Given the description of an element on the screen output the (x, y) to click on. 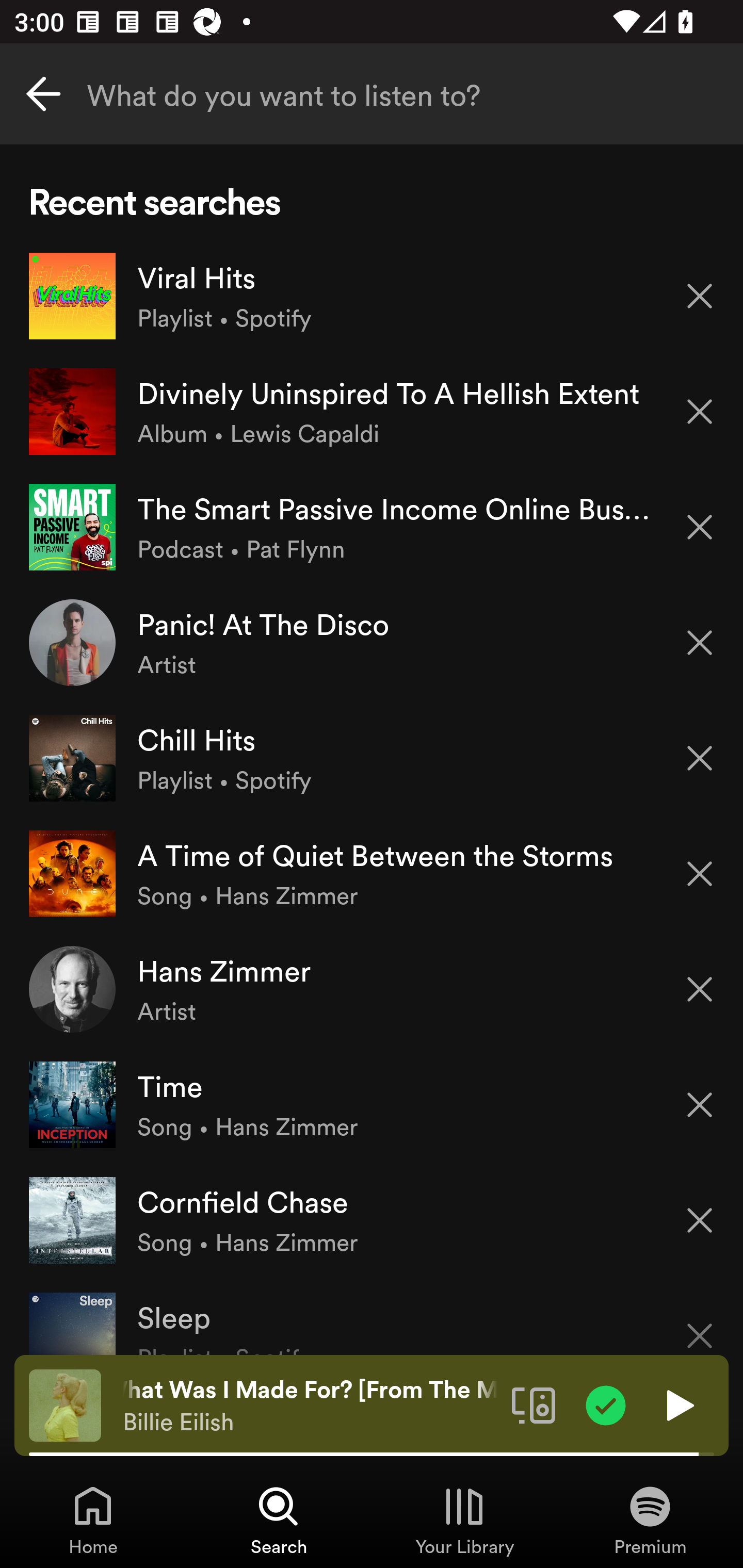
What do you want to listen to? (371, 93)
Cancel (43, 93)
Viral Hits Playlist • Spotify Remove (371, 296)
Remove (699, 295)
Remove (699, 411)
Remove (699, 527)
Panic! At The Disco Artist Remove (371, 642)
Remove (699, 642)
Chill Hits Playlist • Spotify Remove (371, 757)
Remove (699, 758)
Remove (699, 874)
Hans Zimmer Artist Remove (371, 989)
Remove (699, 989)
Time Song • Hans Zimmer Remove (371, 1104)
Remove (699, 1104)
Cornfield Chase Song • Hans Zimmer Remove (371, 1219)
Remove (699, 1220)
